Given the description of an element on the screen output the (x, y) to click on. 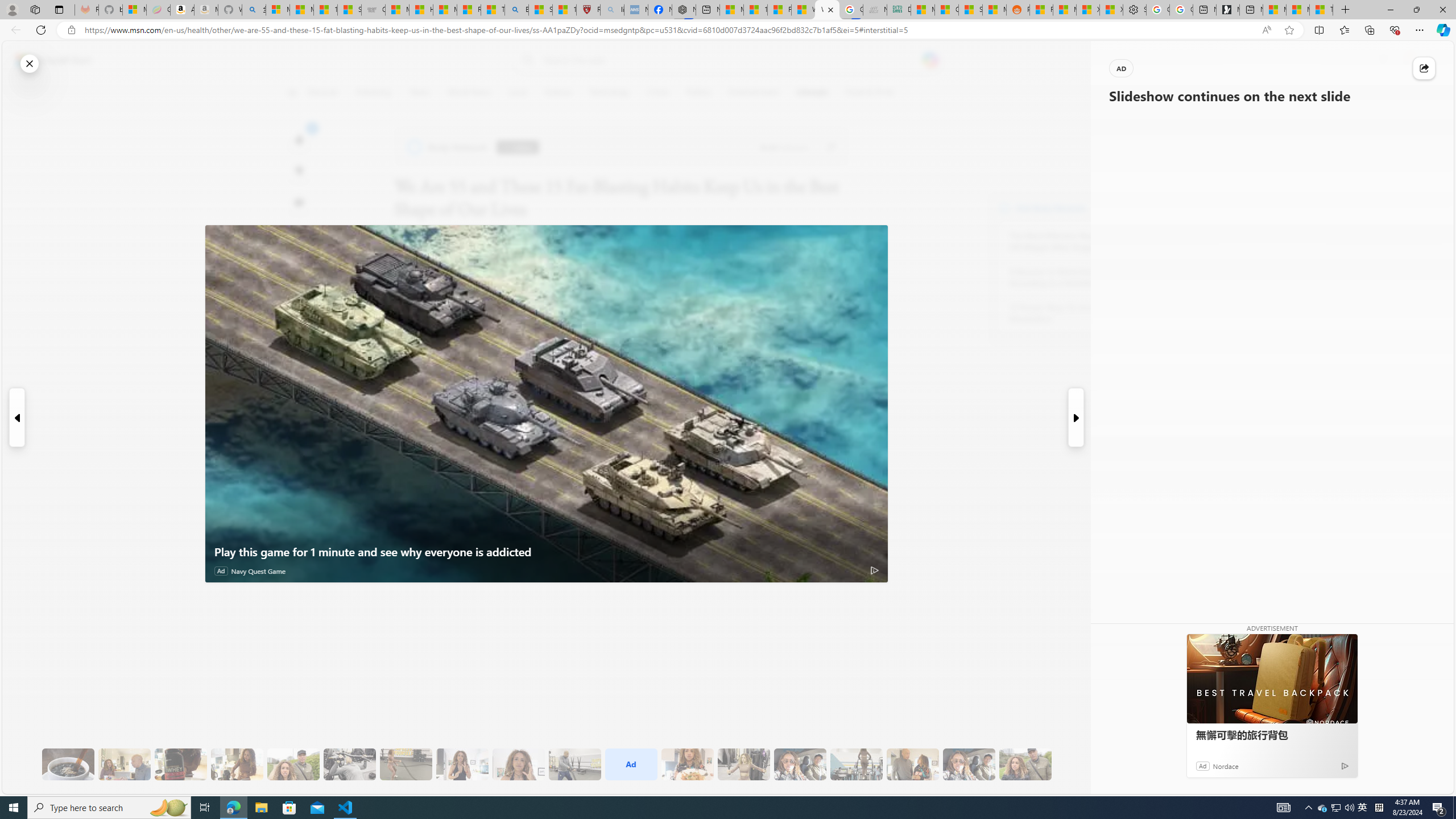
8 They Walk to the Gym (293, 764)
6 Since Eating More Protein Her Training Has Improved (180, 764)
